Given the description of an element on the screen output the (x, y) to click on. 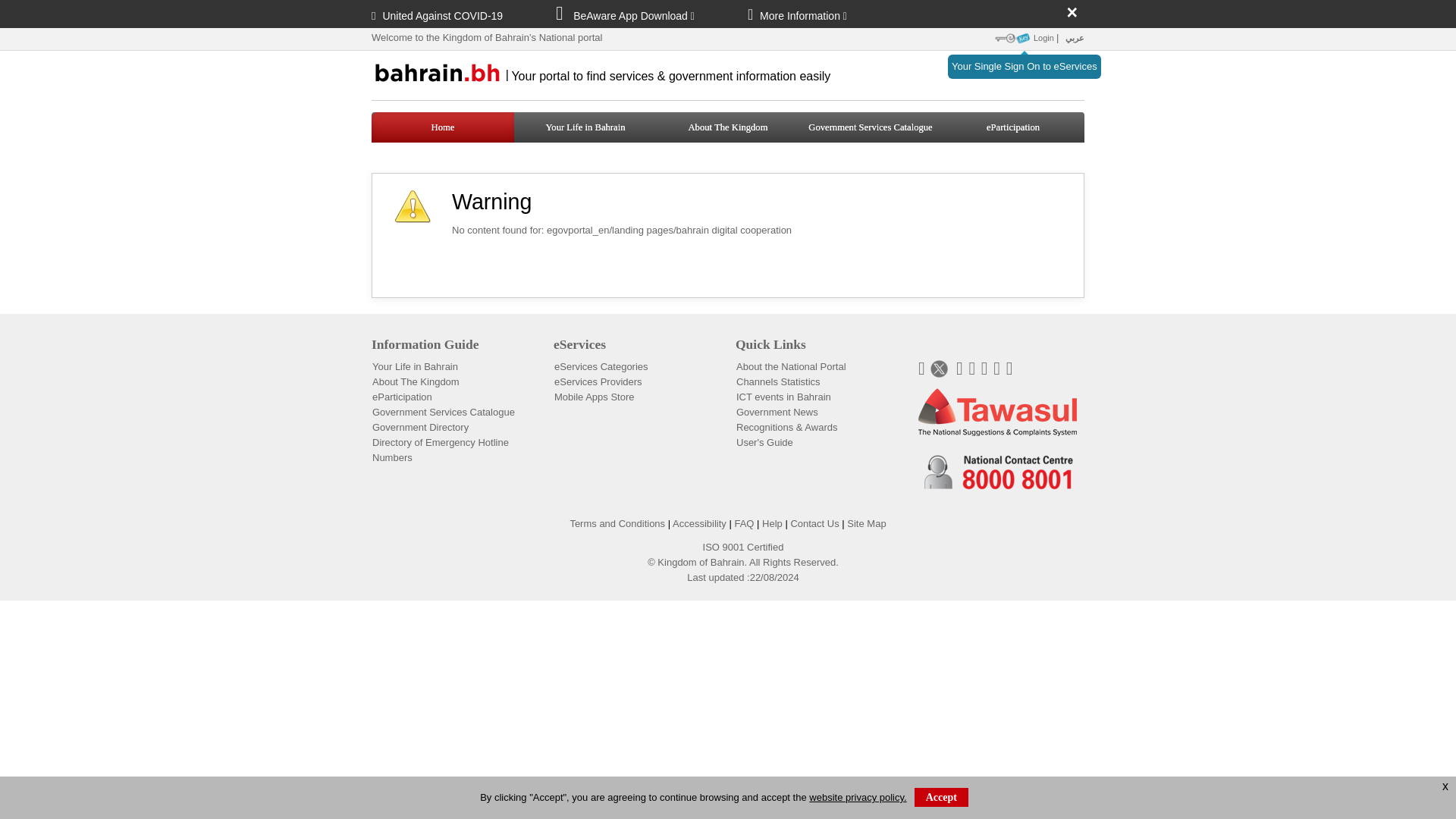
Switch language to Arabic (1072, 37)
eParticipation (1013, 127)
eParticipation (1013, 127)
eKey (1011, 38)
About The Kingdom (416, 381)
eServices Providers (598, 381)
Government Services Catalogue (443, 411)
BeAware App Download (633, 15)
Mobile Apps Store (594, 396)
Channels Statistics (778, 381)
